Given the description of an element on the screen output the (x, y) to click on. 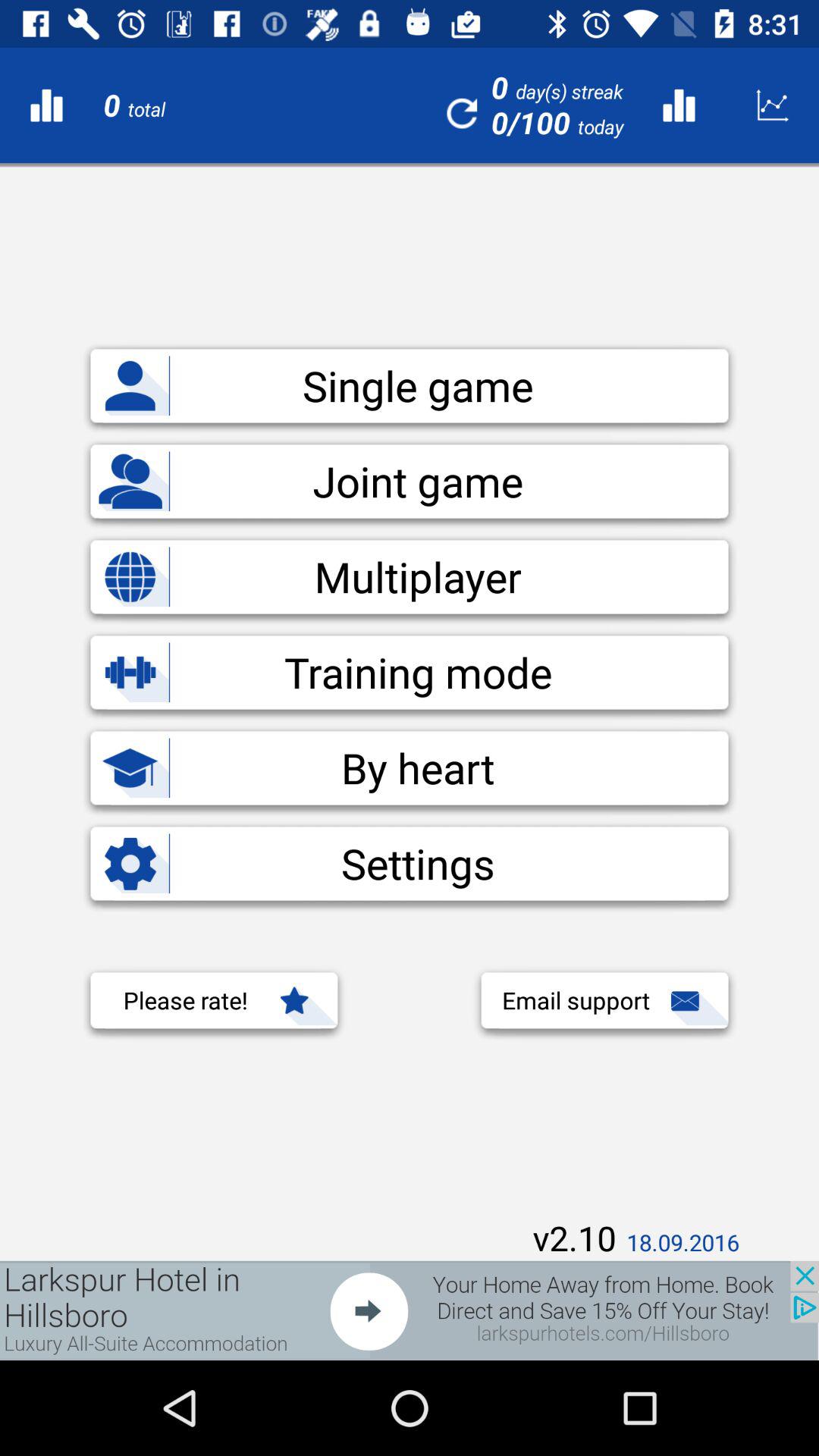
screen page (409, 1310)
